Given the description of an element on the screen output the (x, y) to click on. 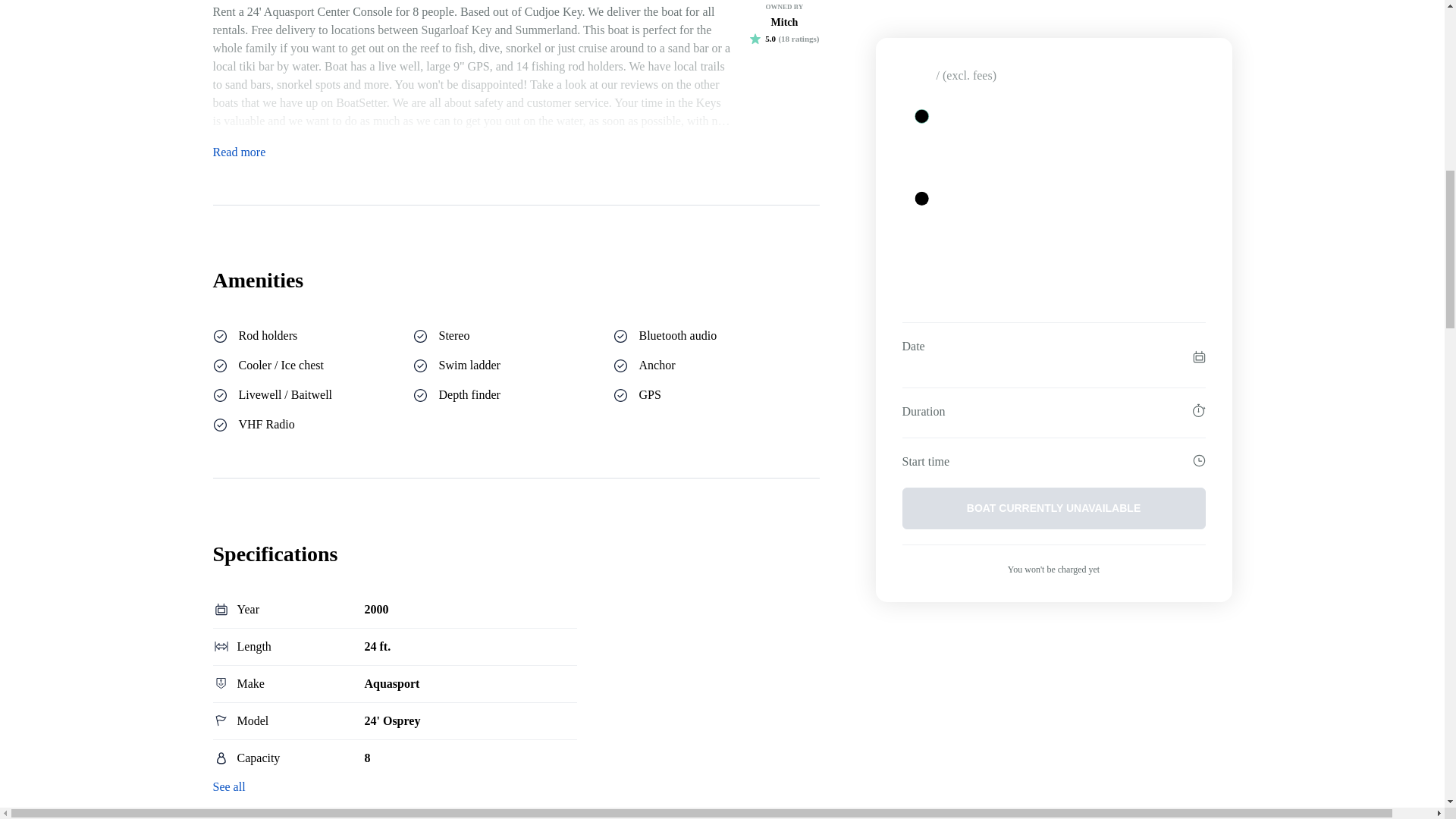
BOAT CURRENTLY UNAVAILABLE (1053, 120)
